Given the description of an element on the screen output the (x, y) to click on. 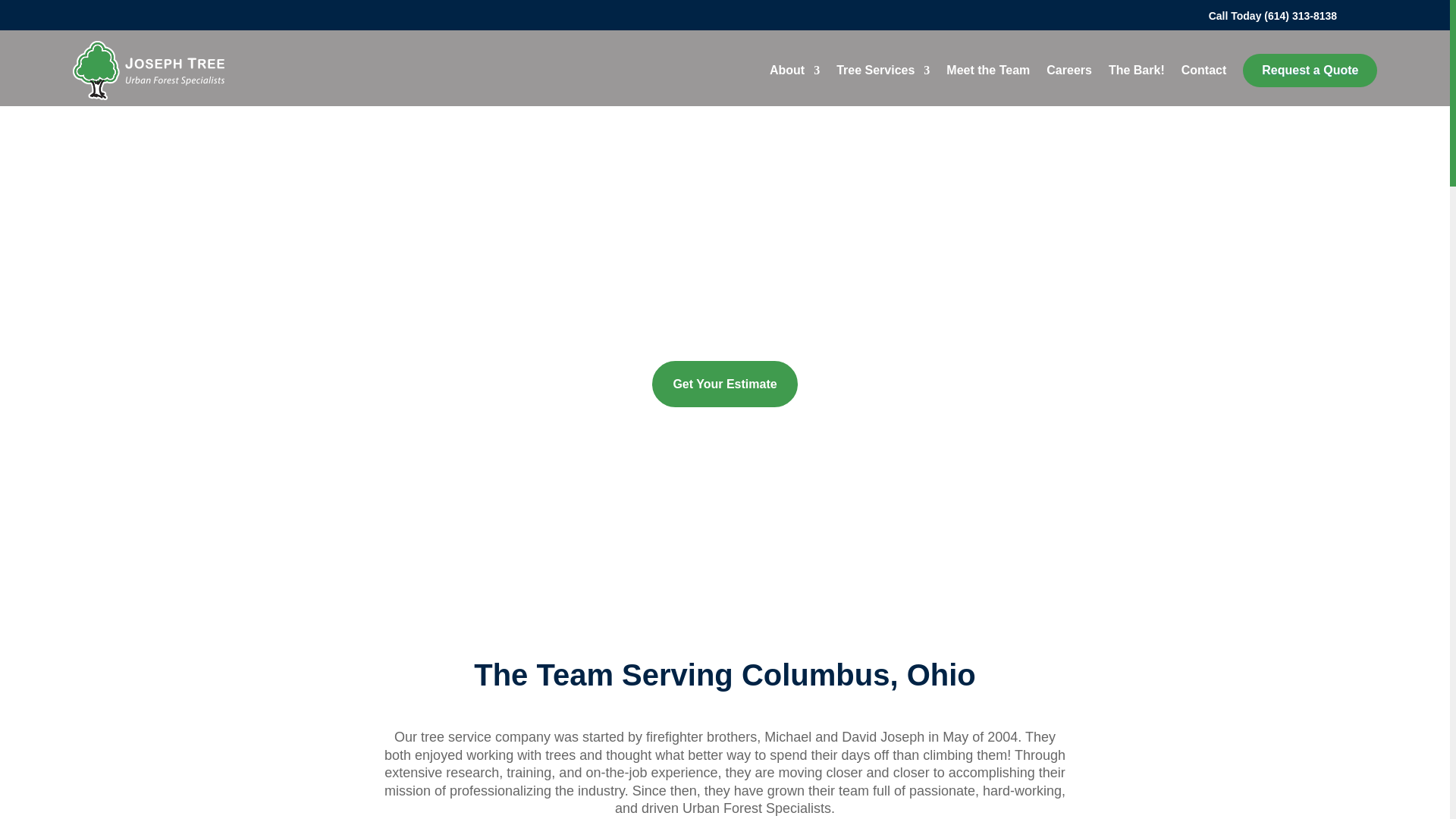
Tree Services (882, 70)
Request a Quote (1310, 70)
Meet the Team (987, 70)
